Given the description of an element on the screen output the (x, y) to click on. 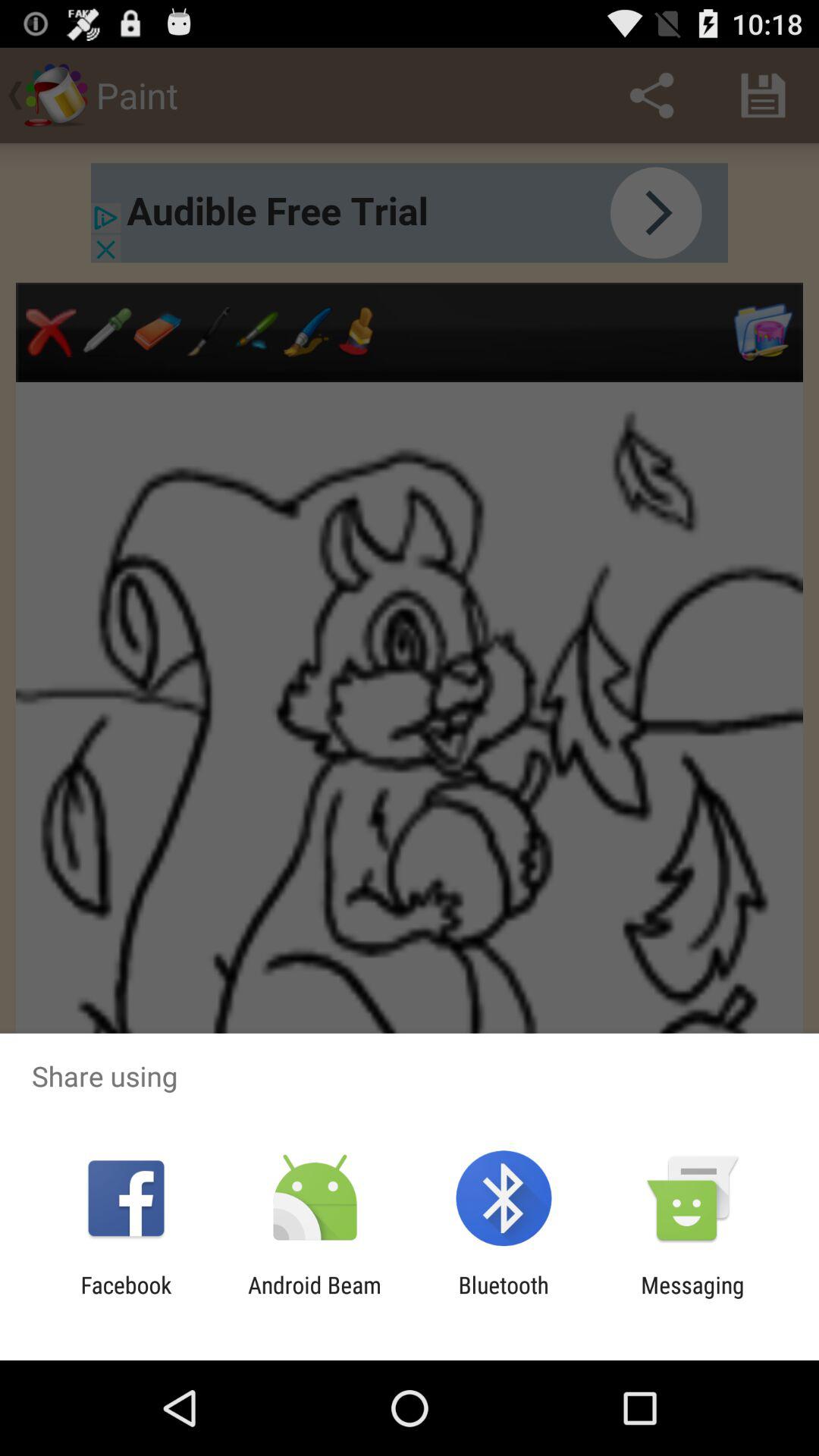
turn off item next to android beam app (503, 1298)
